Given the description of an element on the screen output the (x, y) to click on. 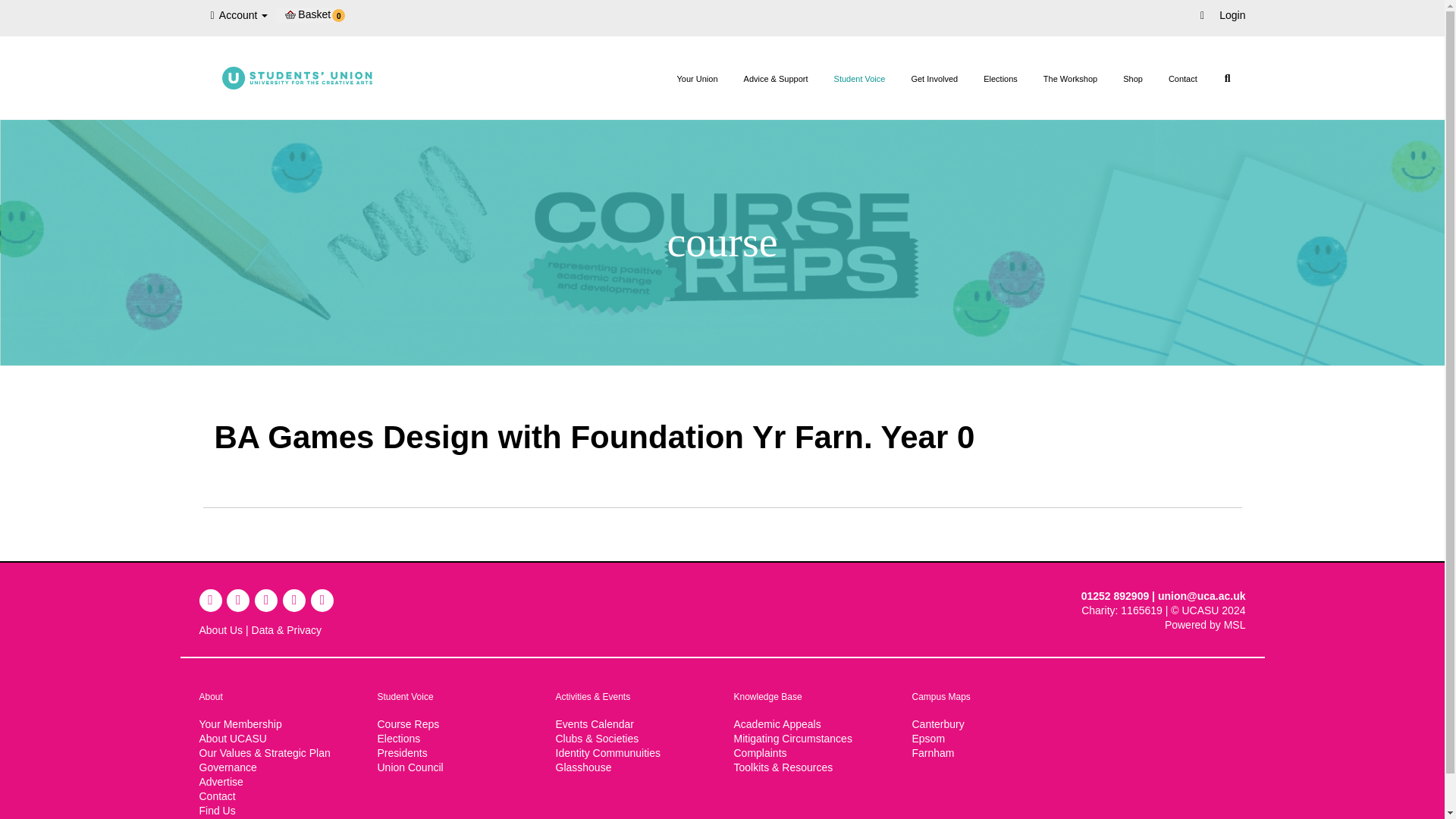
Elections (1000, 79)
Review Basket (314, 14)
Get Involved (934, 79)
Your Union (696, 79)
Student Voice (859, 79)
Account (239, 15)
Basket (314, 14)
Login (1231, 15)
